Given the description of an element on the screen output the (x, y) to click on. 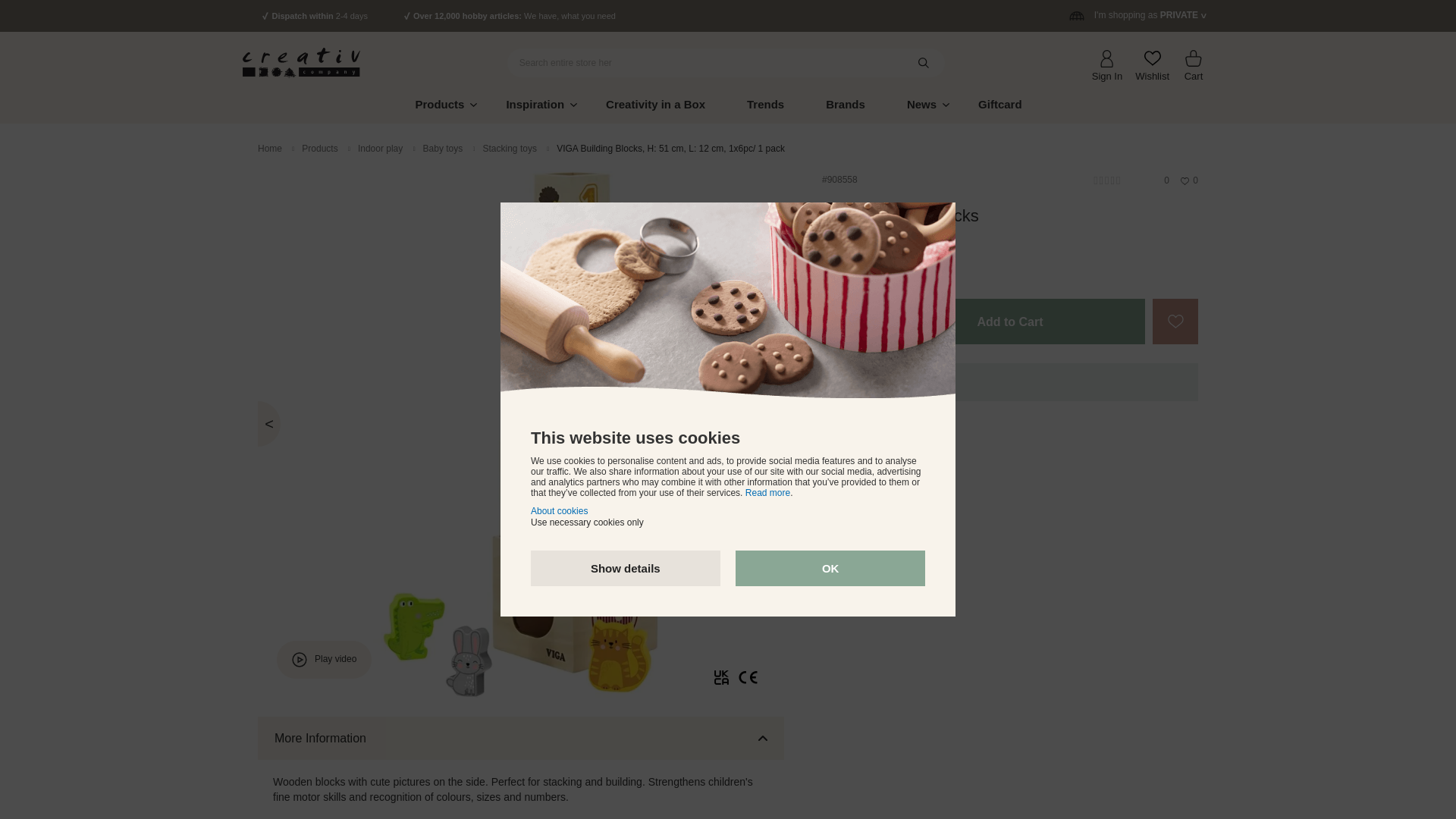
OK (829, 568)
Read more (767, 492)
1 (844, 320)
About cookies (559, 511)
Show details (625, 568)
Use necessary cookies only (587, 521)
